Given the description of an element on the screen output the (x, y) to click on. 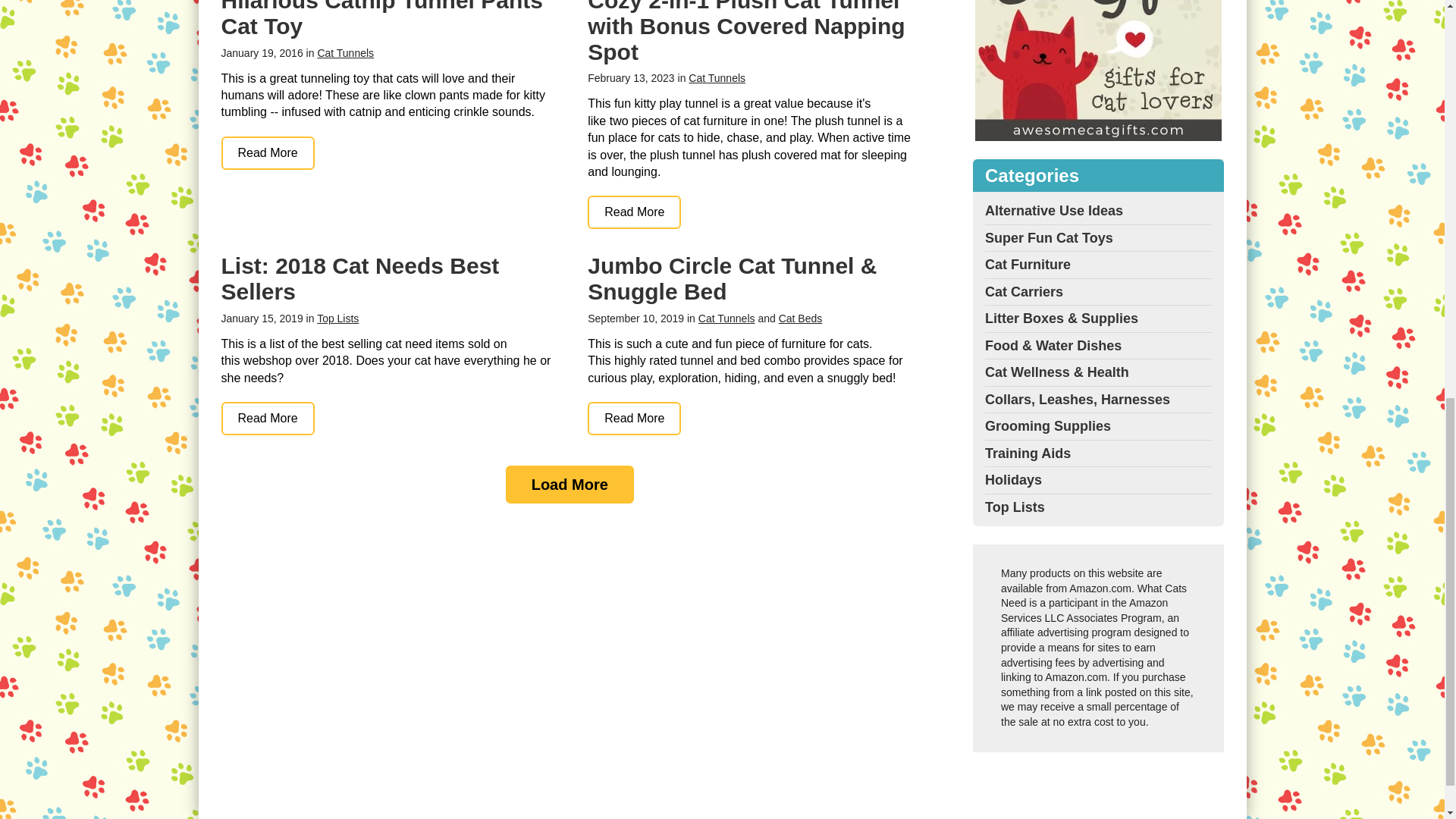
Cozy 2-in-1 Plush Cat Tunnel with Bonus Covered Napping Spot (634, 212)
Hilarious Catnip Tunnel Pants Cat Toy (267, 152)
List: 2018 Cat Needs Best Sellers (267, 418)
